Given the description of an element on the screen output the (x, y) to click on. 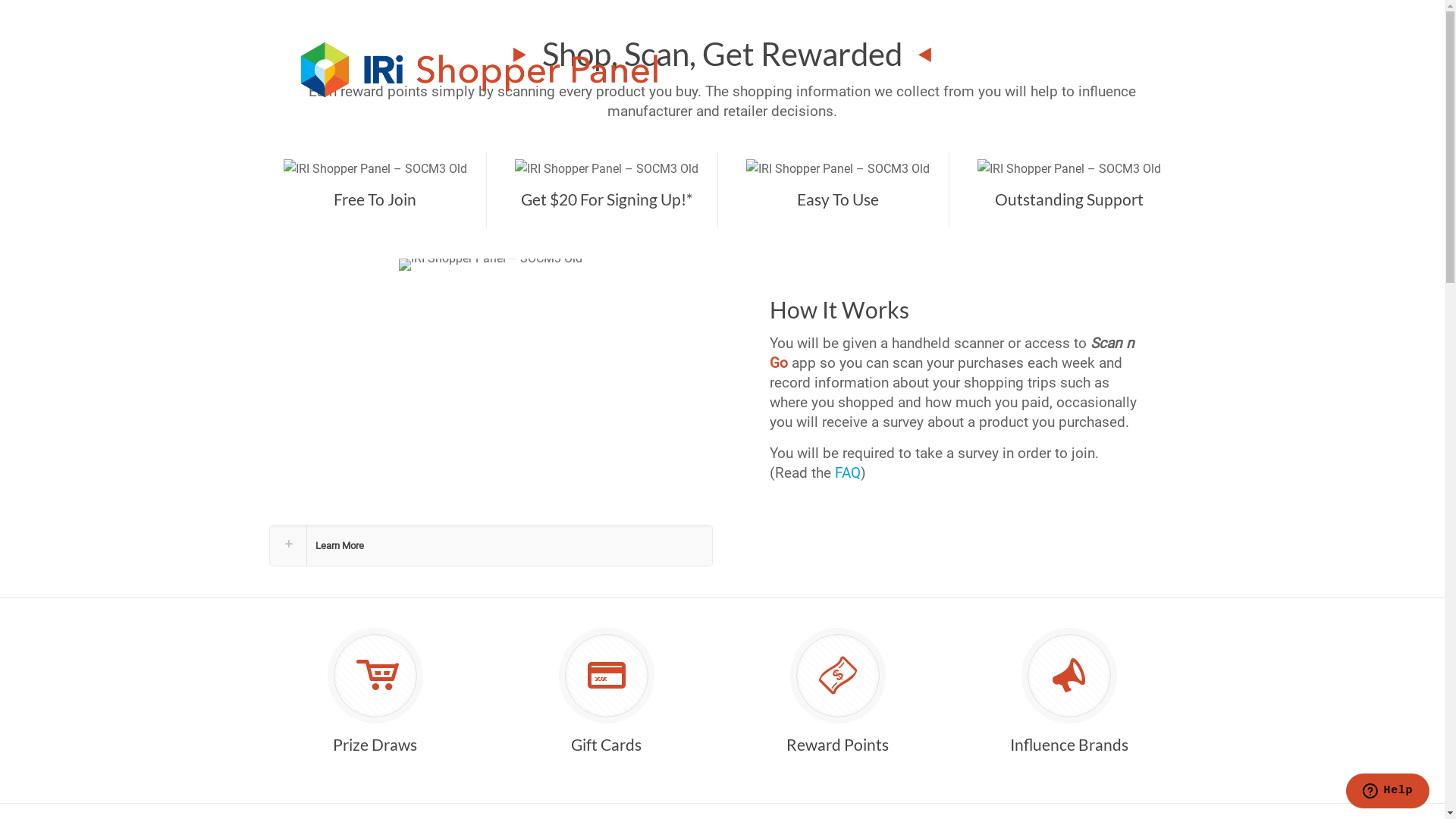
Opens a widget where you can find more information Element type: hover (1387, 792)
FAQ Element type: text (847, 472)
IRI Shopper Panel Element type: hover (482, 68)
